Given the description of an element on the screen output the (x, y) to click on. 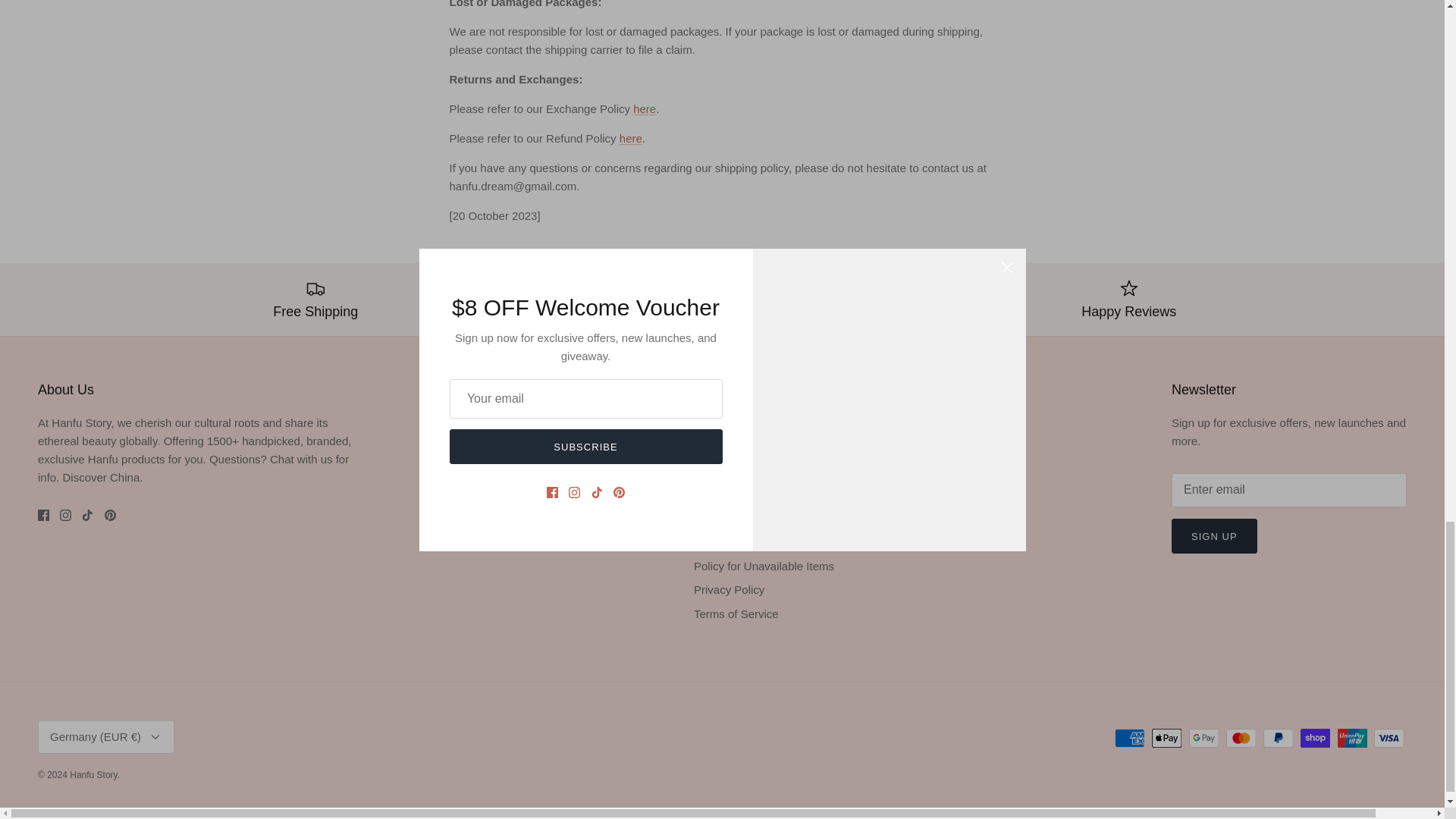
Pinterest (110, 514)
American Express (1129, 737)
Apple Pay (1166, 737)
Google Pay (1203, 737)
Instagram (65, 514)
PayPal (1277, 737)
Mastercard (1240, 737)
Facebook (43, 514)
